Given the description of an element on the screen output the (x, y) to click on. 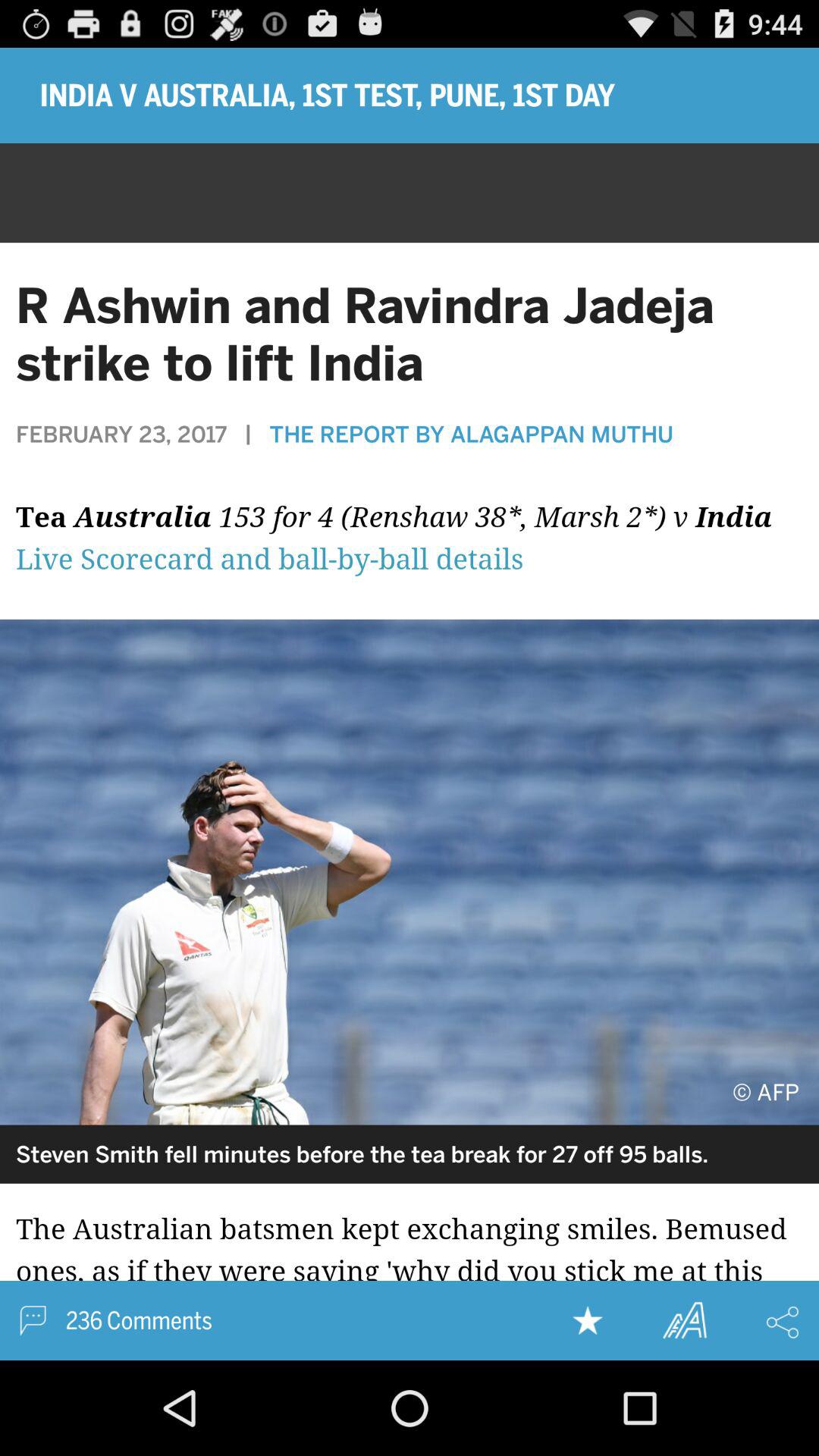
share icon (782, 1321)
